Given the description of an element on the screen output the (x, y) to click on. 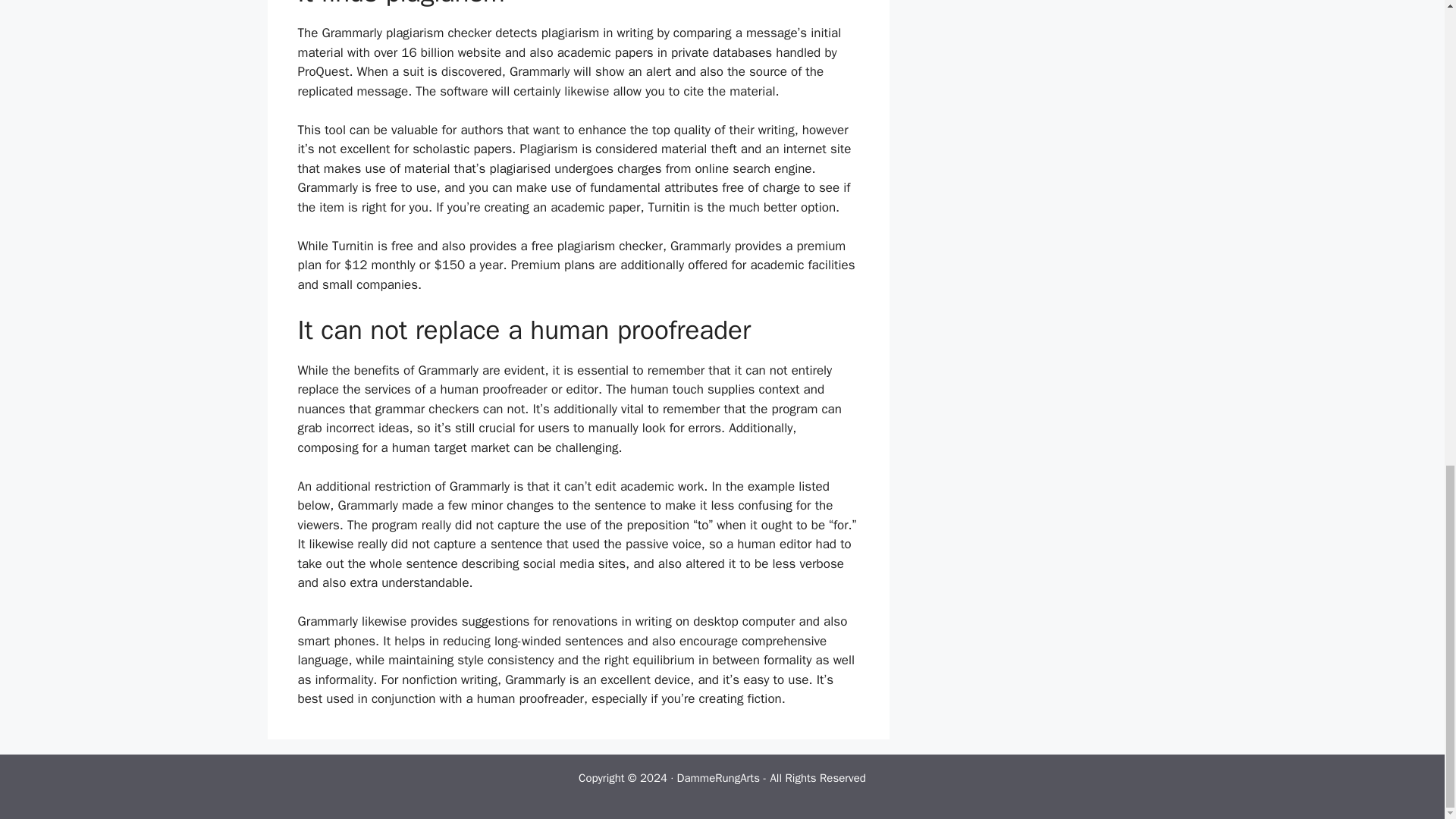
DammeRungArts (718, 777)
